Given the description of an element on the screen output the (x, y) to click on. 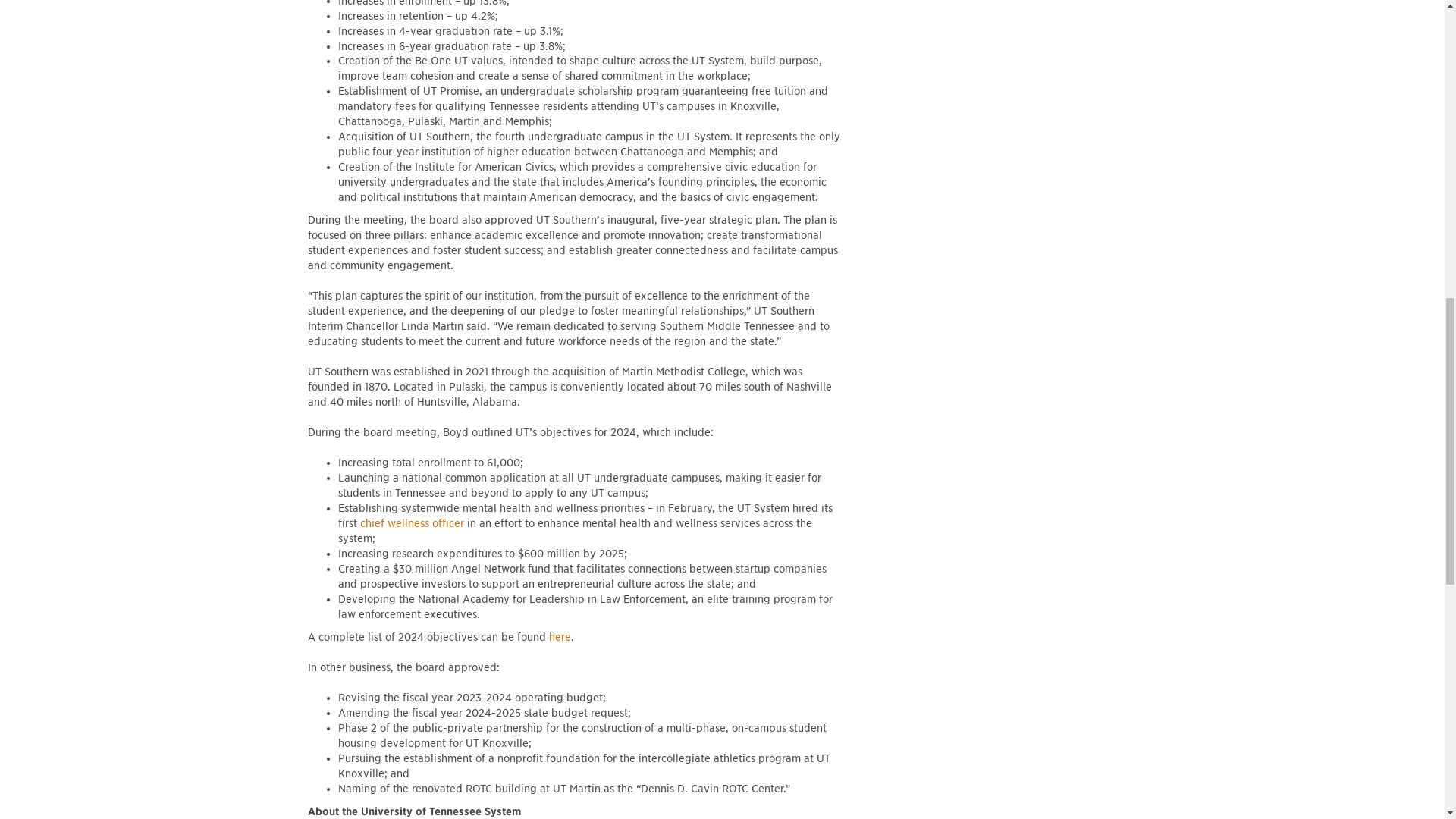
here (559, 636)
chief wellness officer (411, 522)
